Given the description of an element on the screen output the (x, y) to click on. 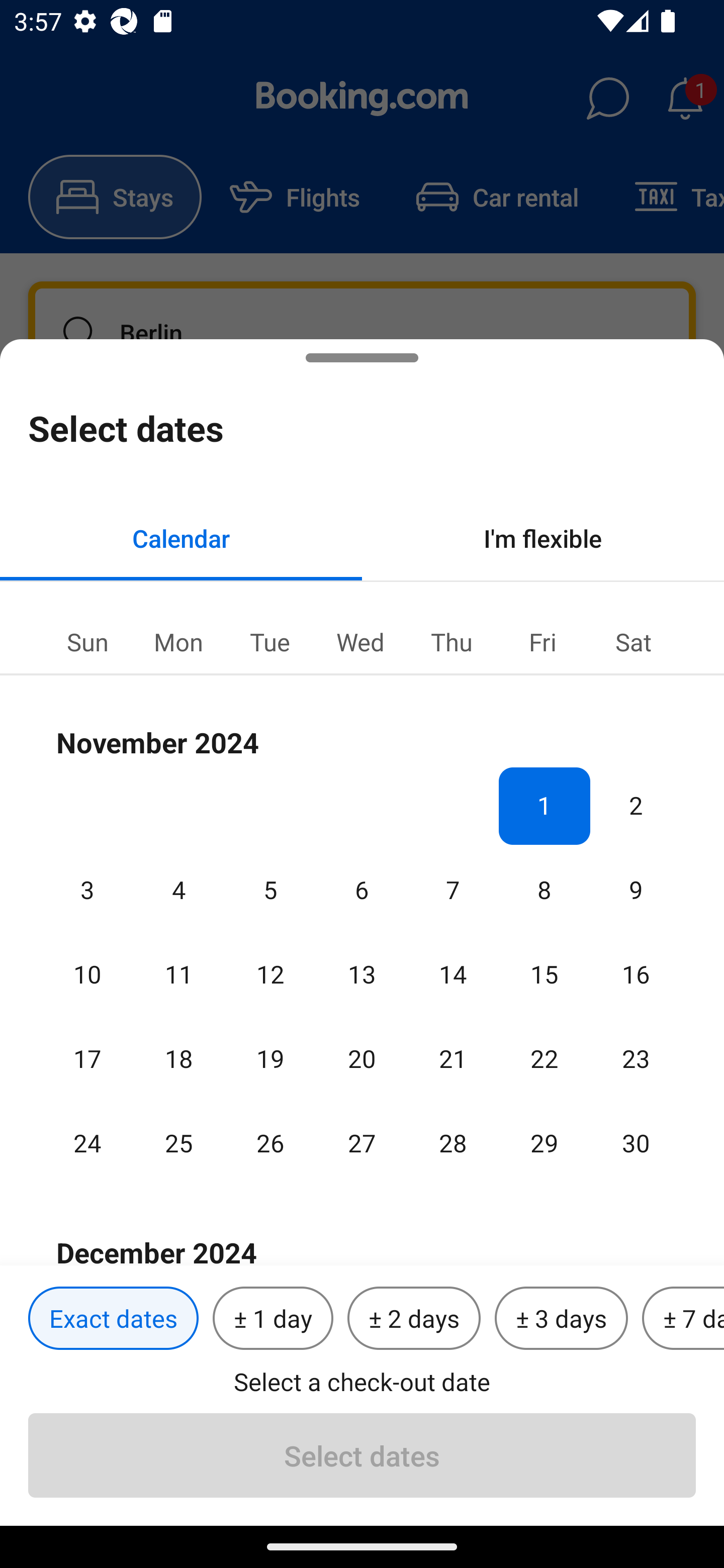
I'm flexible (543, 537)
Exact dates (113, 1318)
± 1 day (272, 1318)
± 2 days (413, 1318)
± 3 days (560, 1318)
± 7 days (683, 1318)
Select dates (361, 1454)
